Given the description of an element on the screen output the (x, y) to click on. 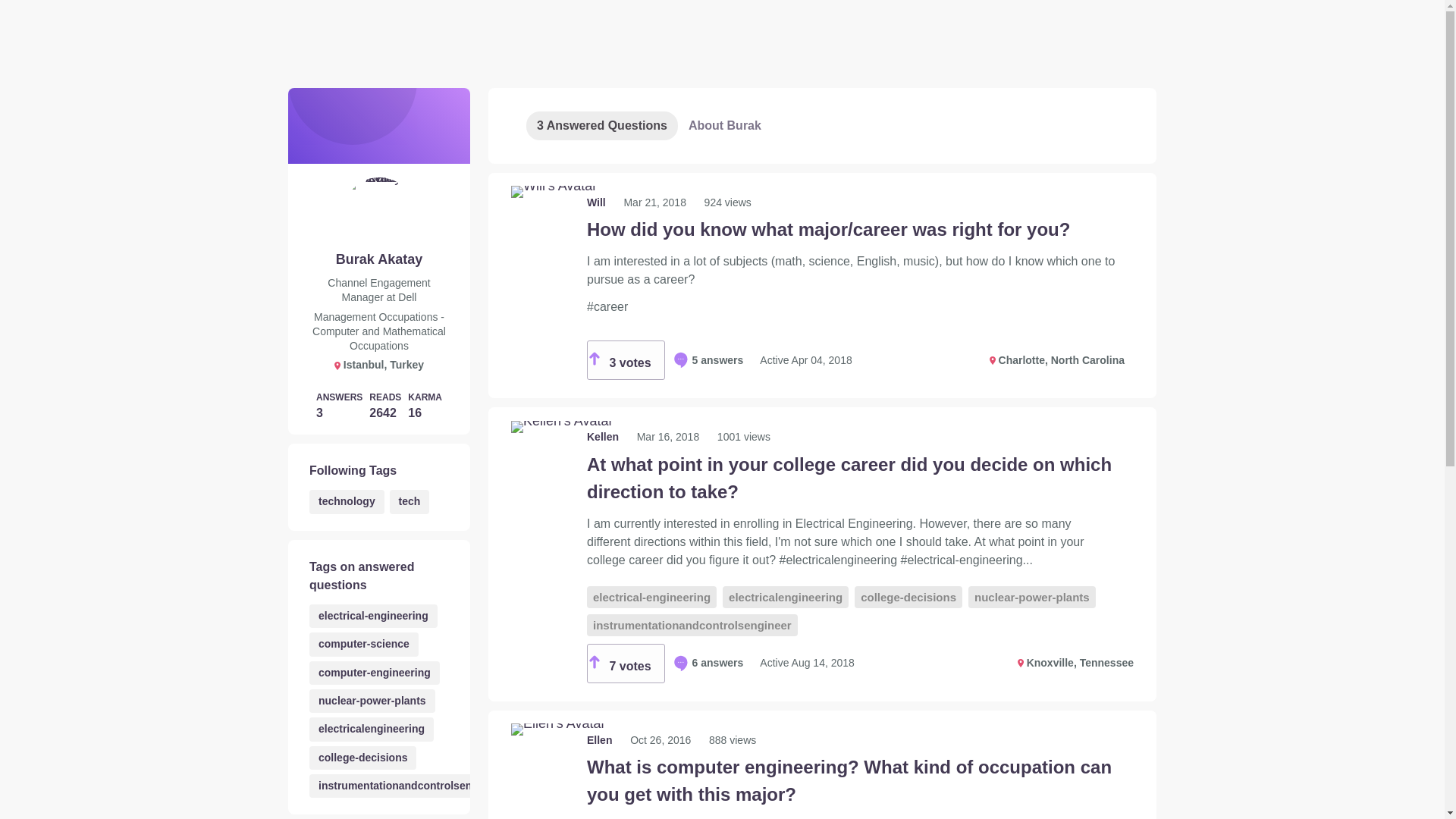
6 answers (708, 663)
3 Answered Questions (601, 125)
About Burak (724, 125)
See Career Questions tagged 'Technology' (346, 501)
5 answers (708, 360)
computer-engineering (373, 672)
instrumentationandcontrolsengineer (410, 785)
instrumentationandcontrolsengineer (691, 625)
7 votes (625, 663)
